Given the description of an element on the screen output the (x, y) to click on. 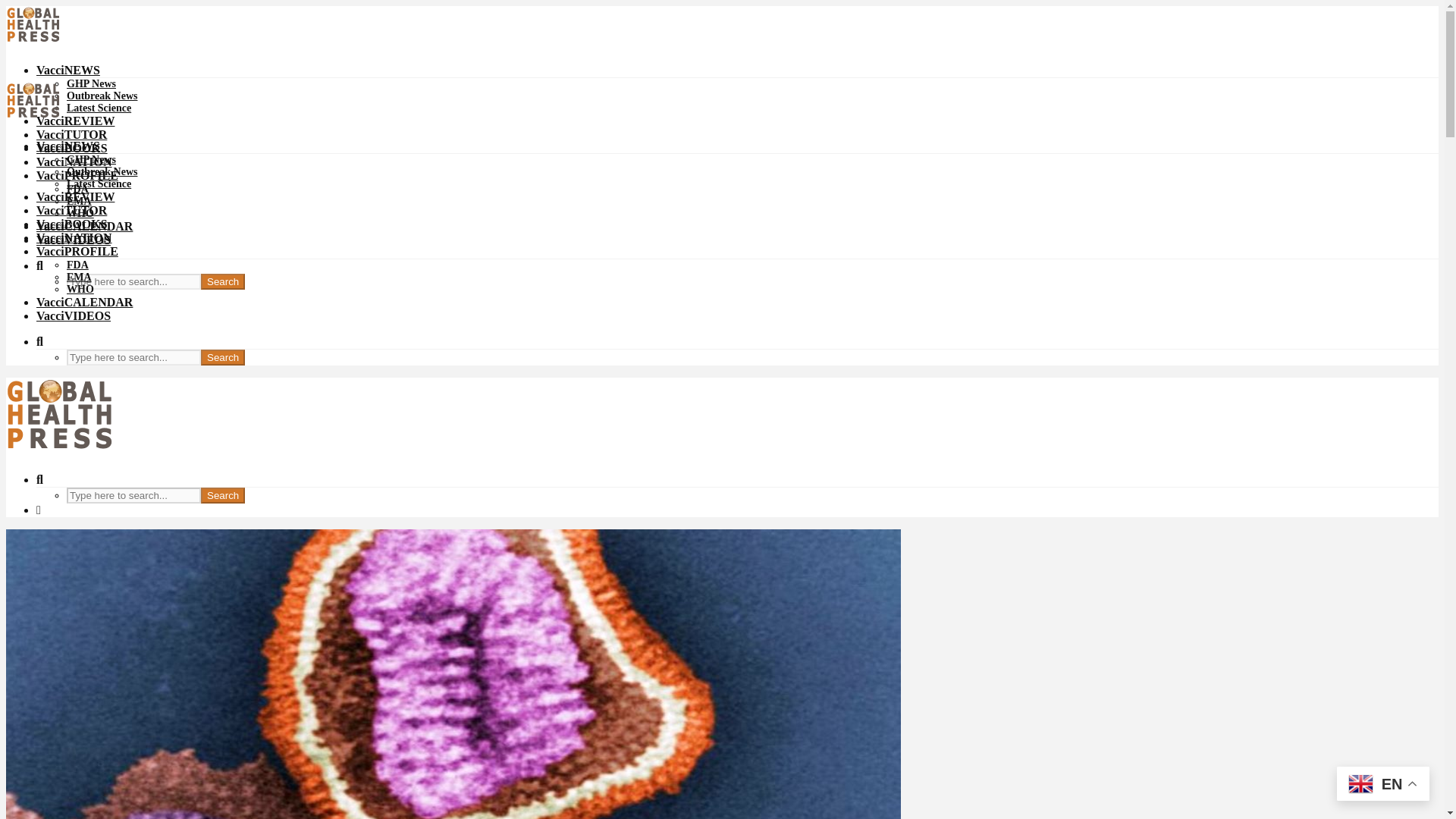
WHO (80, 288)
VacciBOOKS (71, 223)
VacciREVIEW (75, 196)
VacciVIDEOS (73, 315)
VacciTUTOR (71, 210)
FDA (77, 188)
EMA (78, 276)
VacciCALENDAR (84, 301)
VacciVIDEOS (73, 239)
VacciBOOKS (71, 147)
GHP News (91, 83)
GHP News (91, 159)
VacciPROFILE (76, 174)
Latest Science (98, 183)
WHO (80, 213)
